Given the description of an element on the screen output the (x, y) to click on. 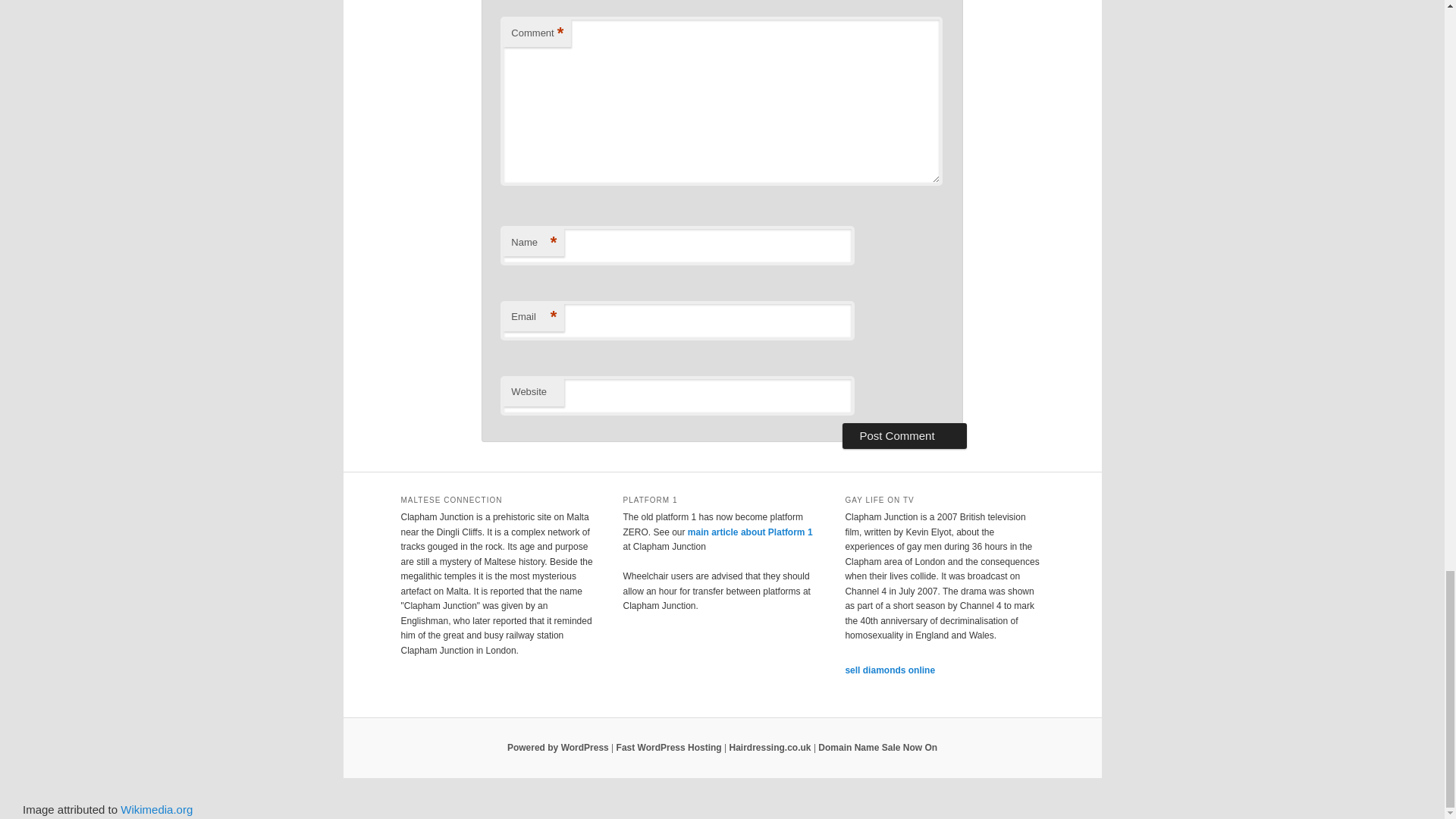
Semantic Personal Publishing Platform (557, 747)
Post Comment (904, 435)
Hairdressing.co.uk (769, 747)
main article about Platform 1 (749, 532)
Powered by WordPress (557, 747)
Fast WordPress Hosting (668, 747)
Post Comment (904, 435)
sell diamonds online (889, 670)
